Given the description of an element on the screen output the (x, y) to click on. 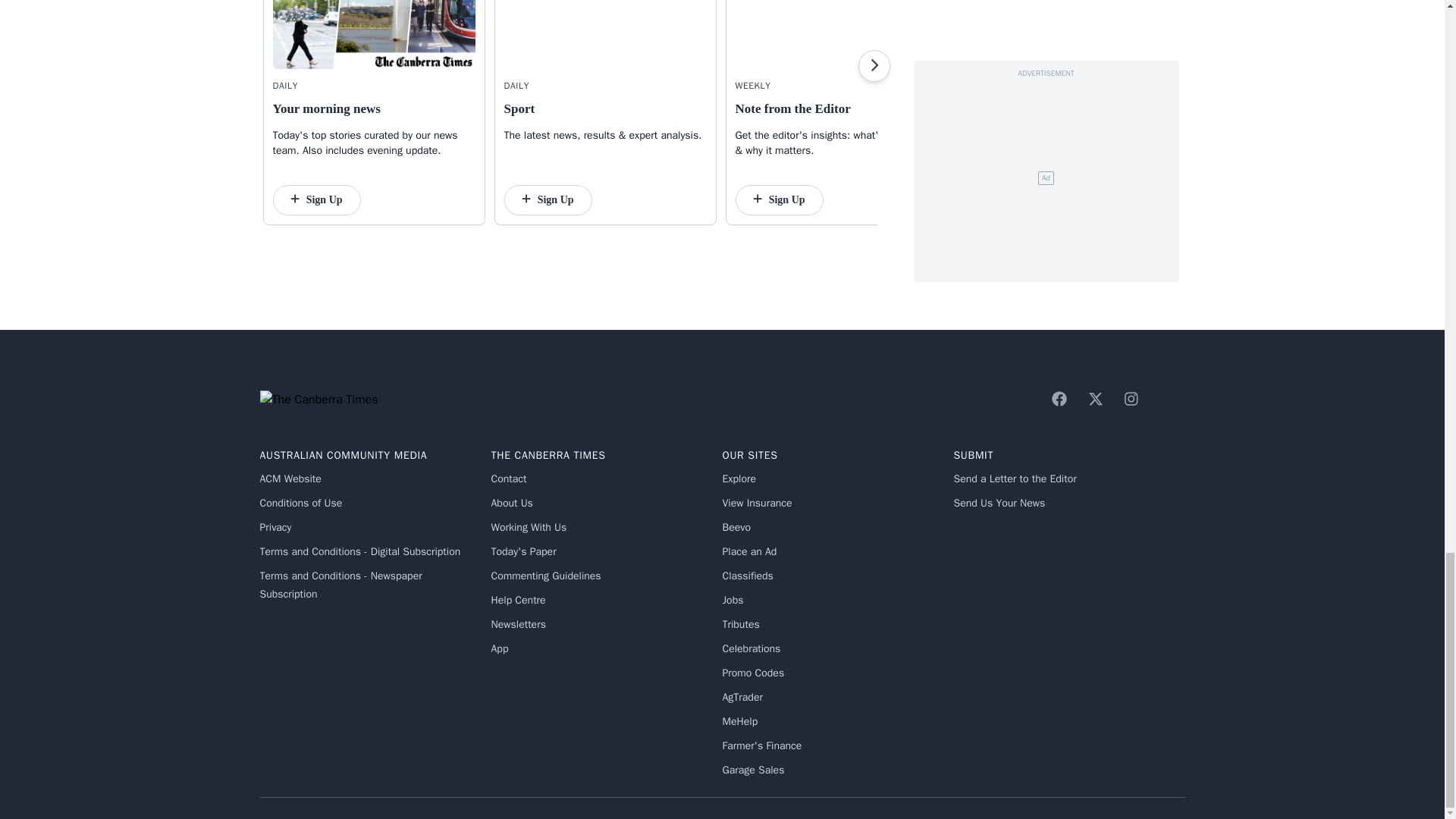
Note from the Editor Newsletter (836, 34)
Sport Newsletter (604, 34)
Your morning news Newsletter (374, 34)
